Given the description of an element on the screen output the (x, y) to click on. 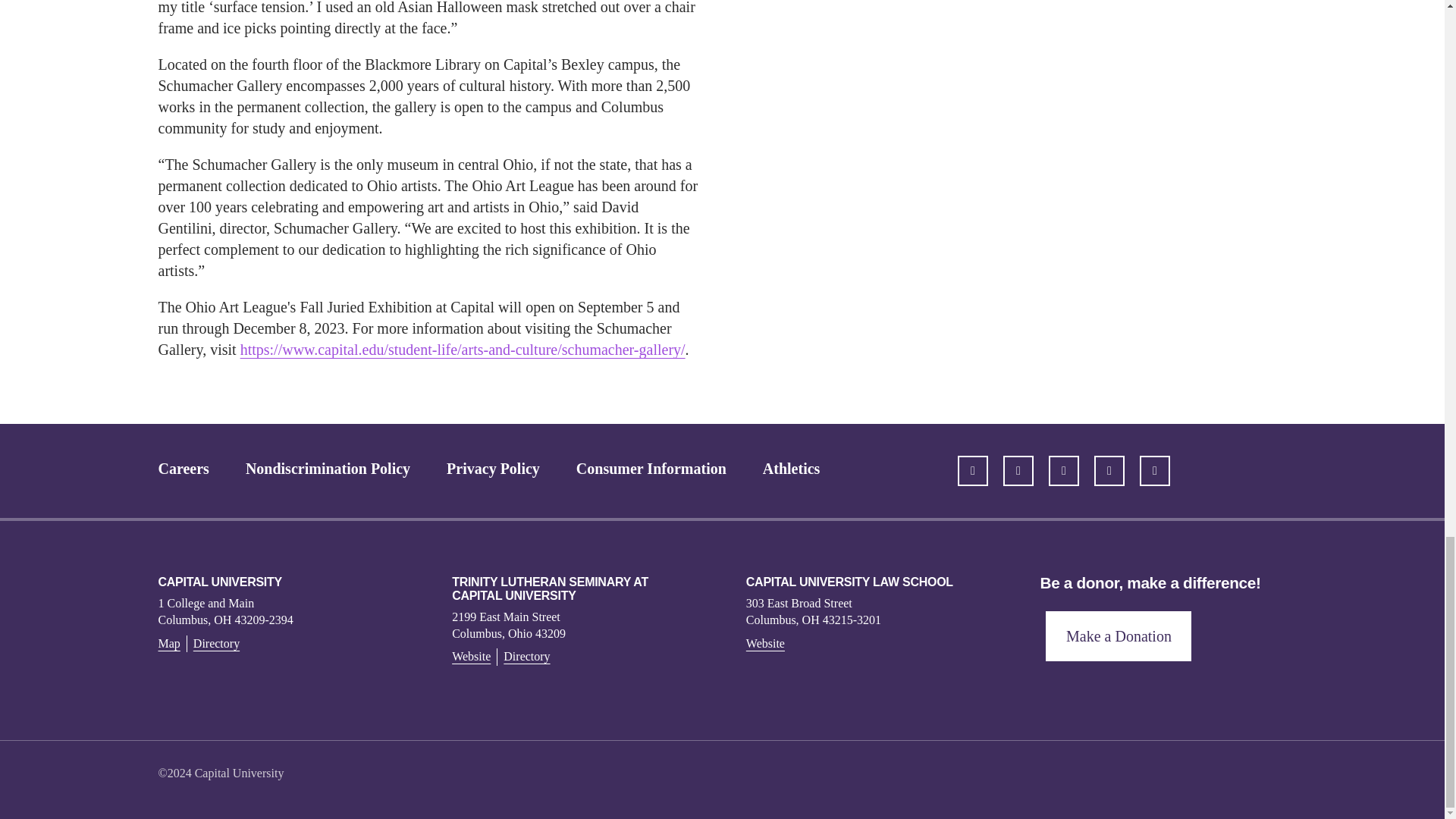
facebook (1018, 470)
twitter (973, 470)
linkedin (1063, 470)
instagram (1155, 470)
youtube (1109, 470)
